Given the description of an element on the screen output the (x, y) to click on. 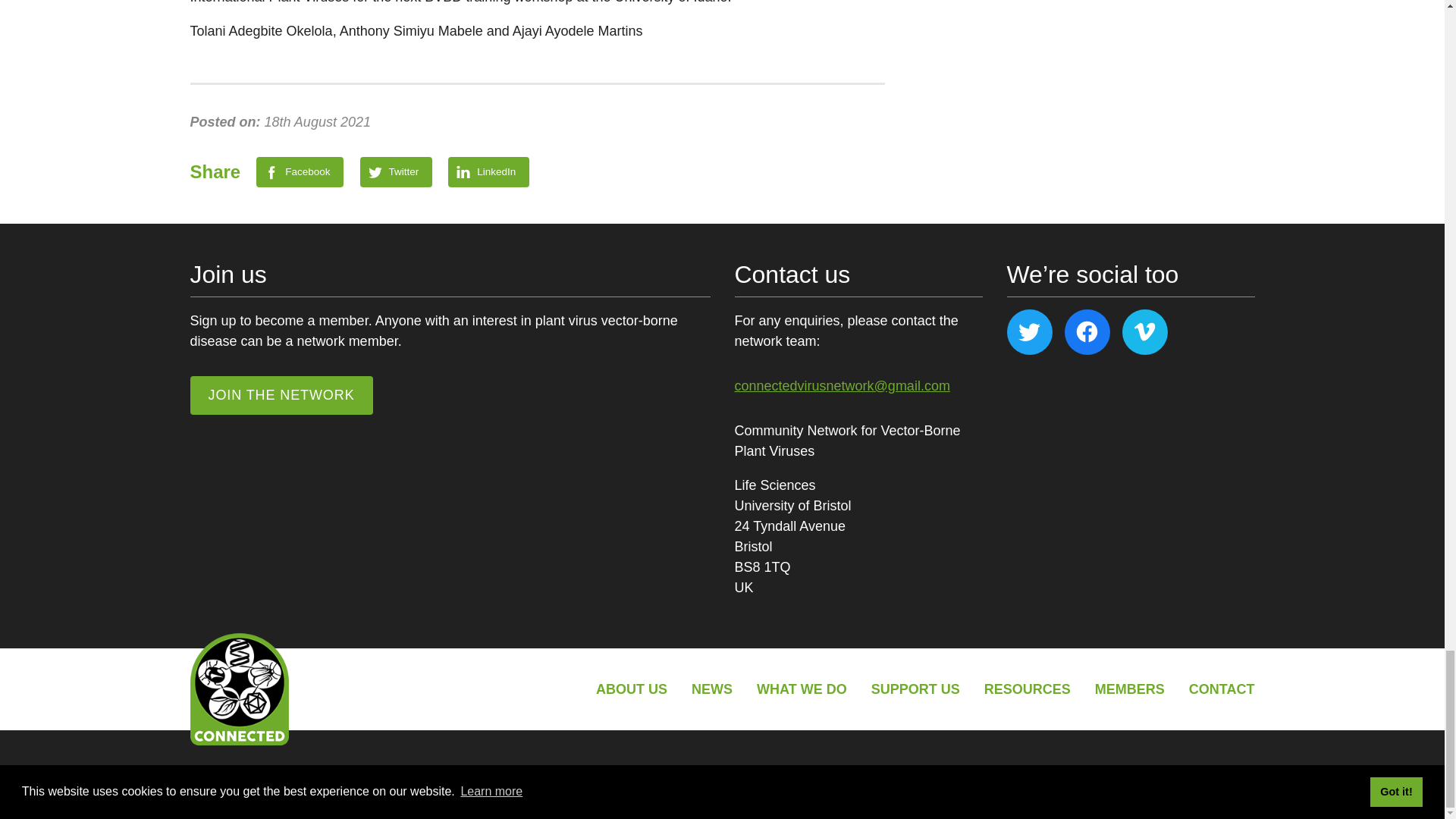
Facebook (299, 172)
Twitter (395, 172)
LinkedIn (488, 172)
